Given the description of an element on the screen output the (x, y) to click on. 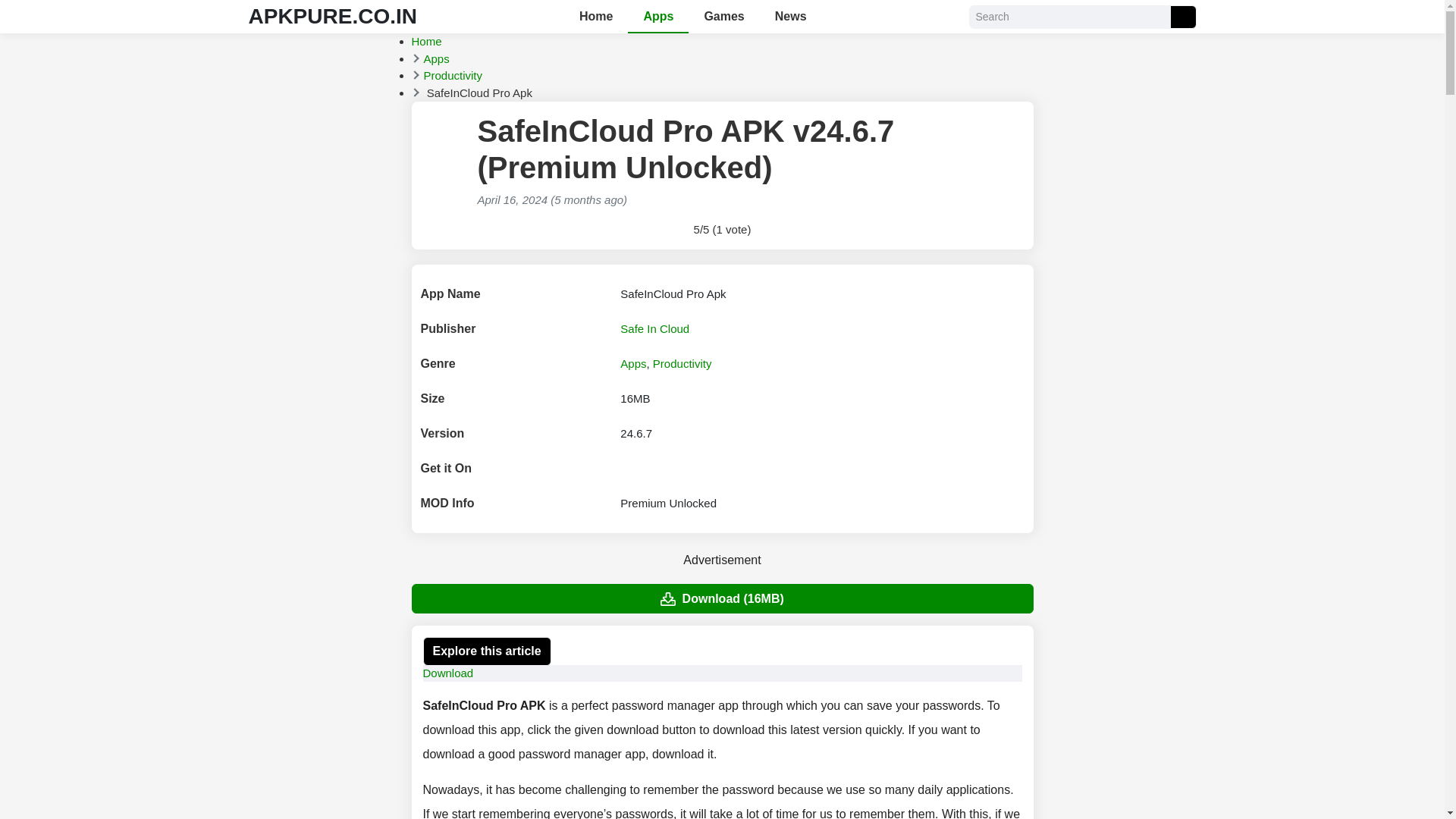
Productivity (681, 363)
Games (723, 16)
Home (595, 16)
Explore this article (487, 651)
APKPURE.CO.IN (332, 15)
Apps (435, 57)
Home (425, 41)
Apps (657, 16)
Home (425, 41)
